Given the description of an element on the screen output the (x, y) to click on. 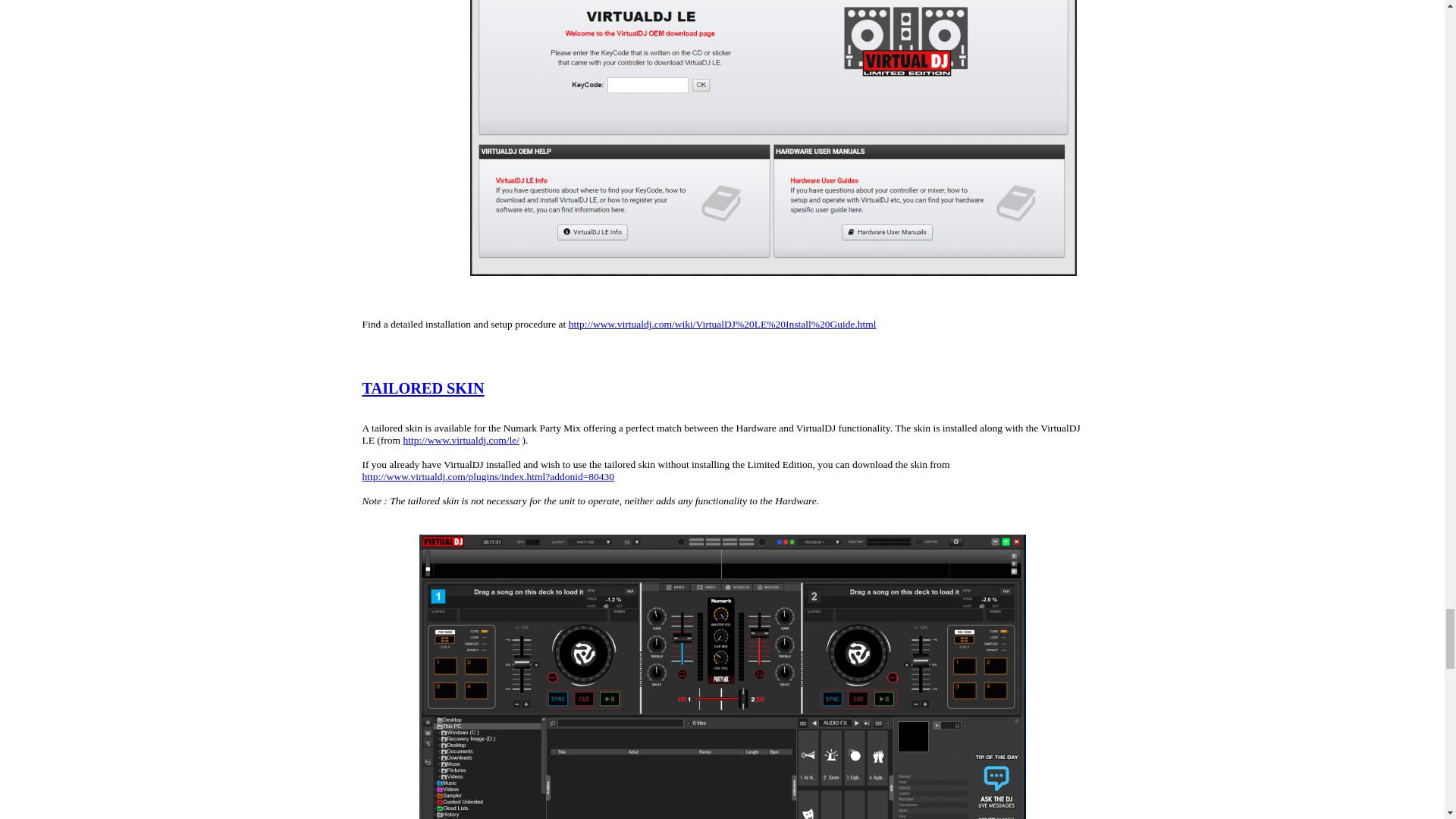
TAILORED SKIN (423, 388)
